Given the description of an element on the screen output the (x, y) to click on. 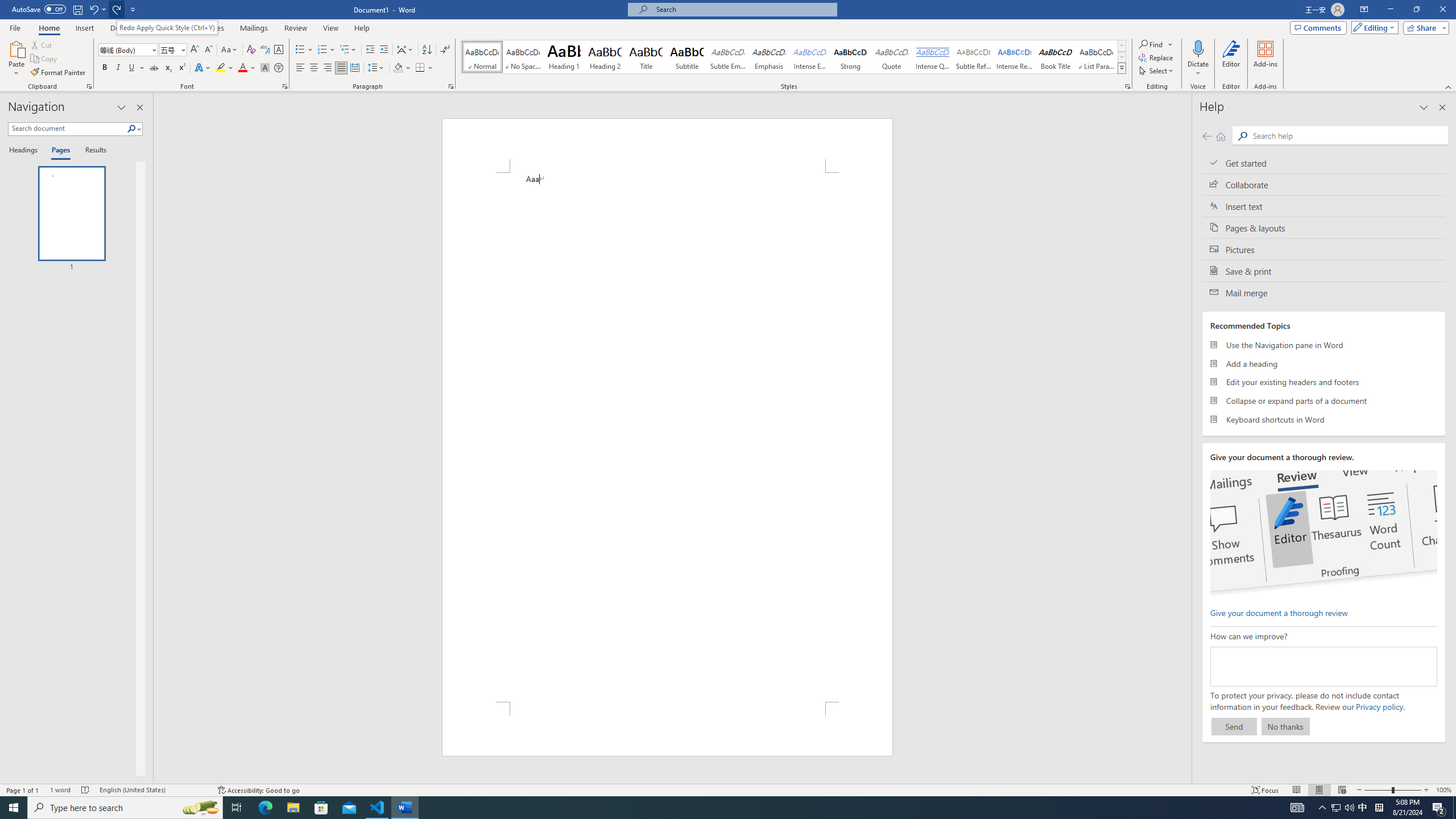
Intense Reference (1014, 56)
No thanks (1285, 726)
Save & print (1323, 270)
AutomationID: QuickStylesGallery (794, 56)
Give your document a thorough review (1278, 611)
